Given the description of an element on the screen output the (x, y) to click on. 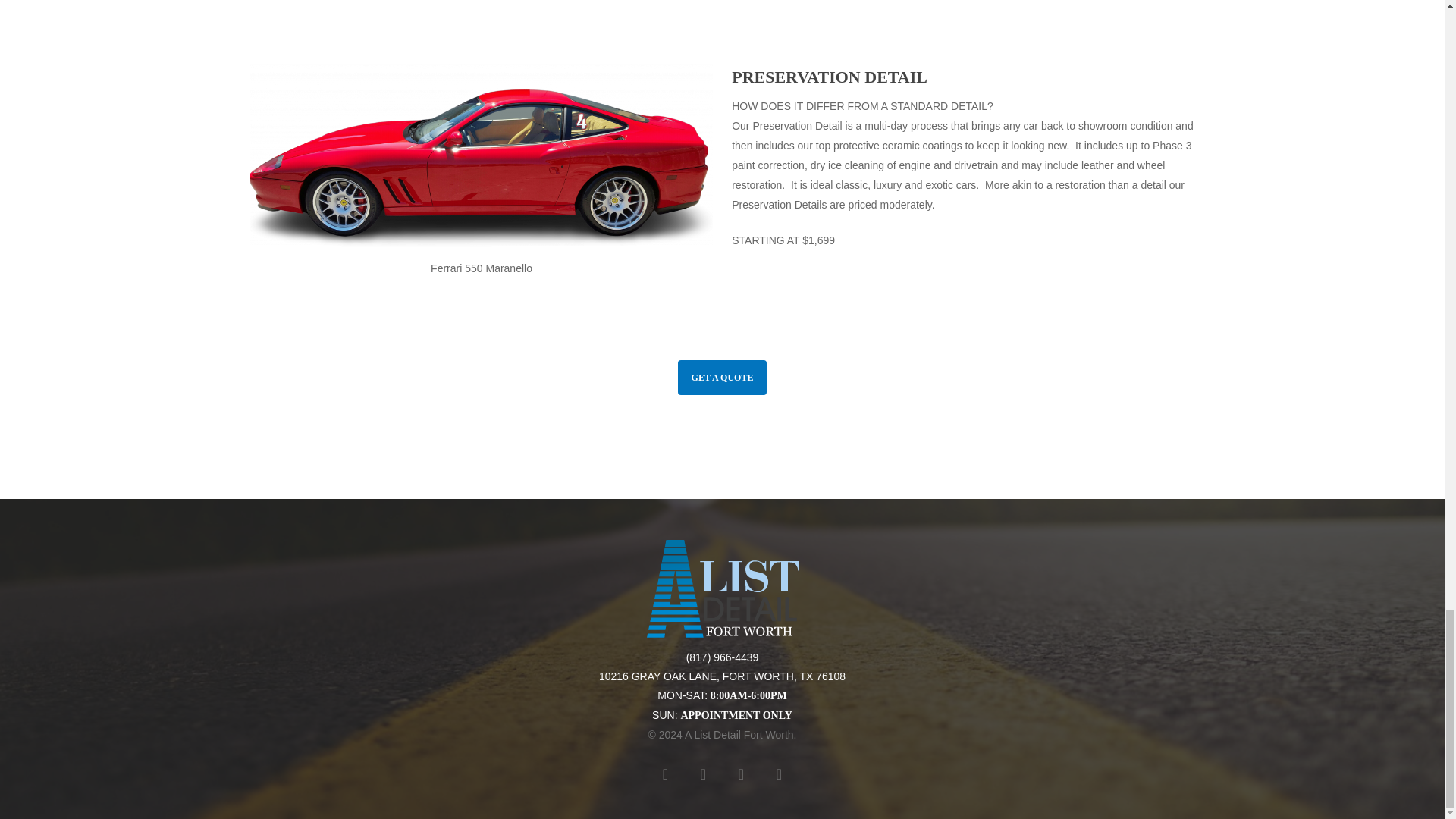
GET A QUOTE (722, 377)
facebook (702, 773)
google-plus (778, 773)
youtube (740, 773)
twitter (665, 773)
